Given the description of an element on the screen output the (x, y) to click on. 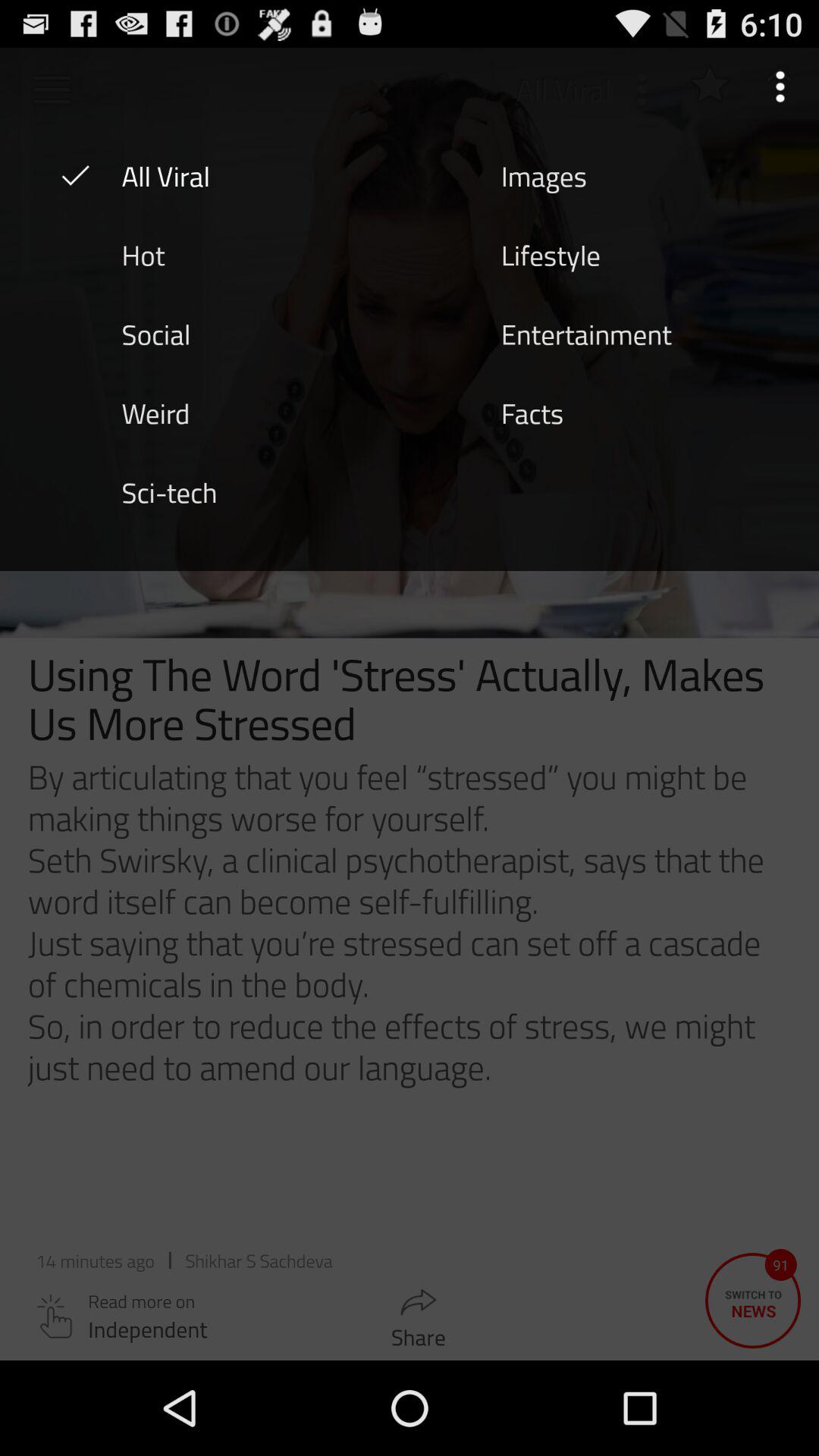
turn off the all viral (165, 174)
